Given the description of an element on the screen output the (x, y) to click on. 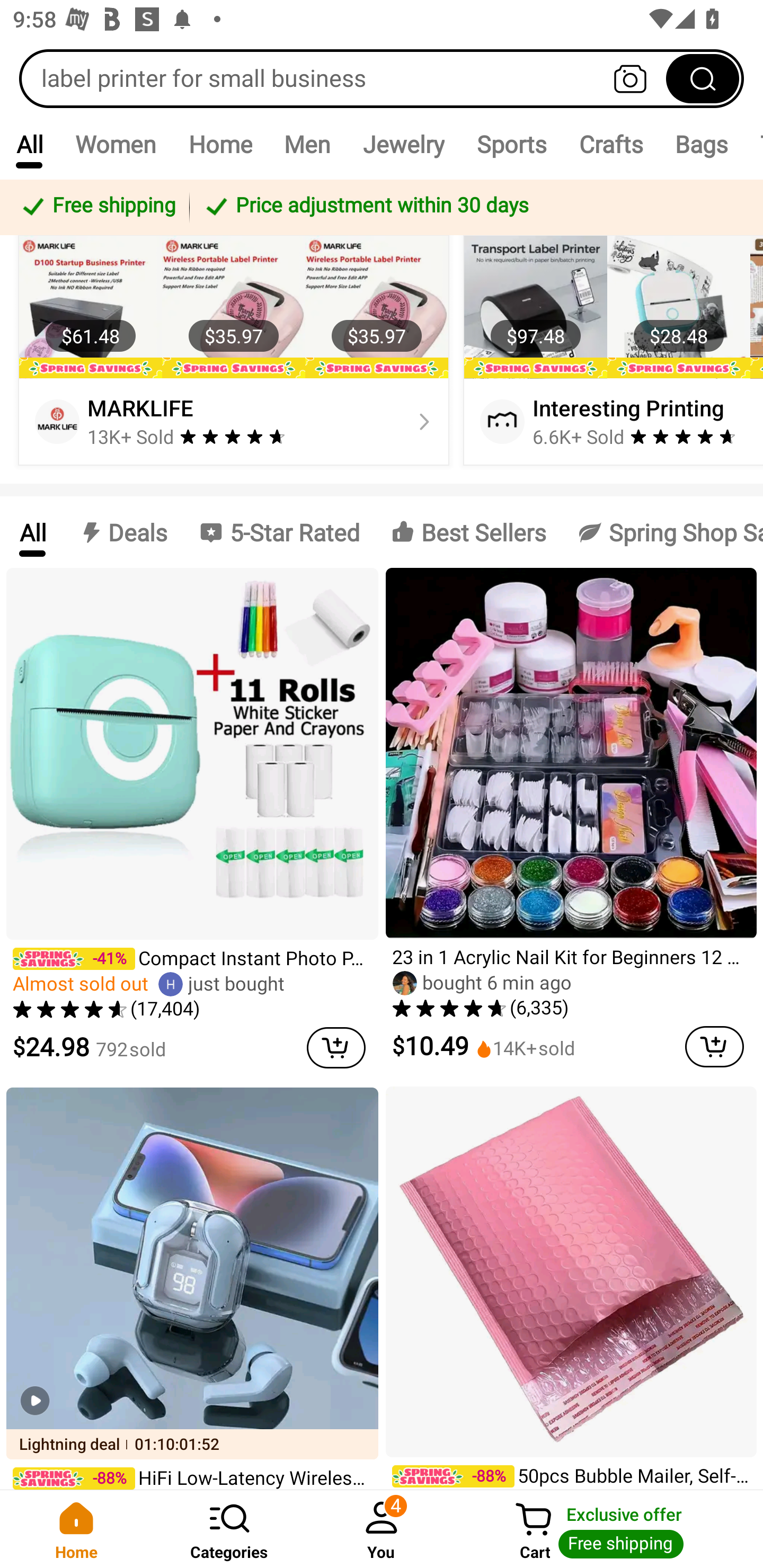
label printer for small business (381, 78)
All (29, 144)
Women (115, 144)
Home (219, 144)
Men (306, 144)
Jewelry (403, 144)
Sports (511, 144)
Crafts (611, 144)
Bags (701, 144)
Free shipping (97, 206)
Price adjustment within 30 days (472, 206)
$61.48 $35.97 $35.97 MARKLIFE 13K+ Sold (233, 349)
$97.48 $28.48 Interesting Printing 6.6K+ Sold (610, 349)
All (32, 532)
Deals Deals Deals (122, 532)
5-Star Rated 5-Star Rated 5-Star Rated (279, 532)
Best Sellers Best Sellers Best Sellers (468, 532)
Spring Shop Save Spring Shop Save Spring Shop Save (662, 532)
cart delete (714, 1046)
cart delete (335, 1047)
Home (76, 1528)
Categories (228, 1528)
You 4 You (381, 1528)
Cart Cart Exclusive offer (610, 1528)
